Given the description of an element on the screen output the (x, y) to click on. 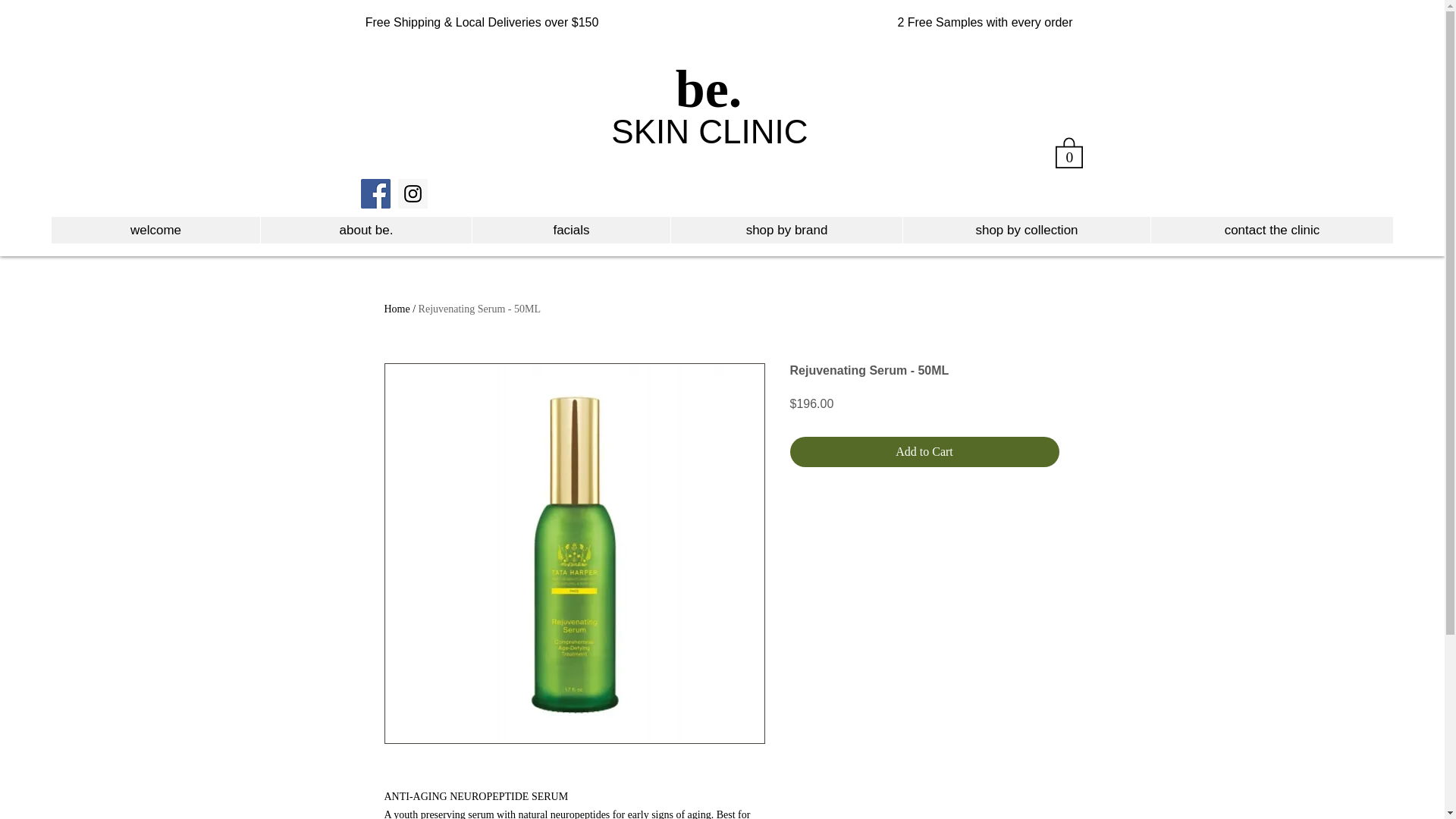
shop by collection (1026, 230)
shop by brand (785, 230)
about be. (365, 230)
welcome (155, 230)
facials (570, 230)
Site Search (998, 195)
